Given the description of an element on the screen output the (x, y) to click on. 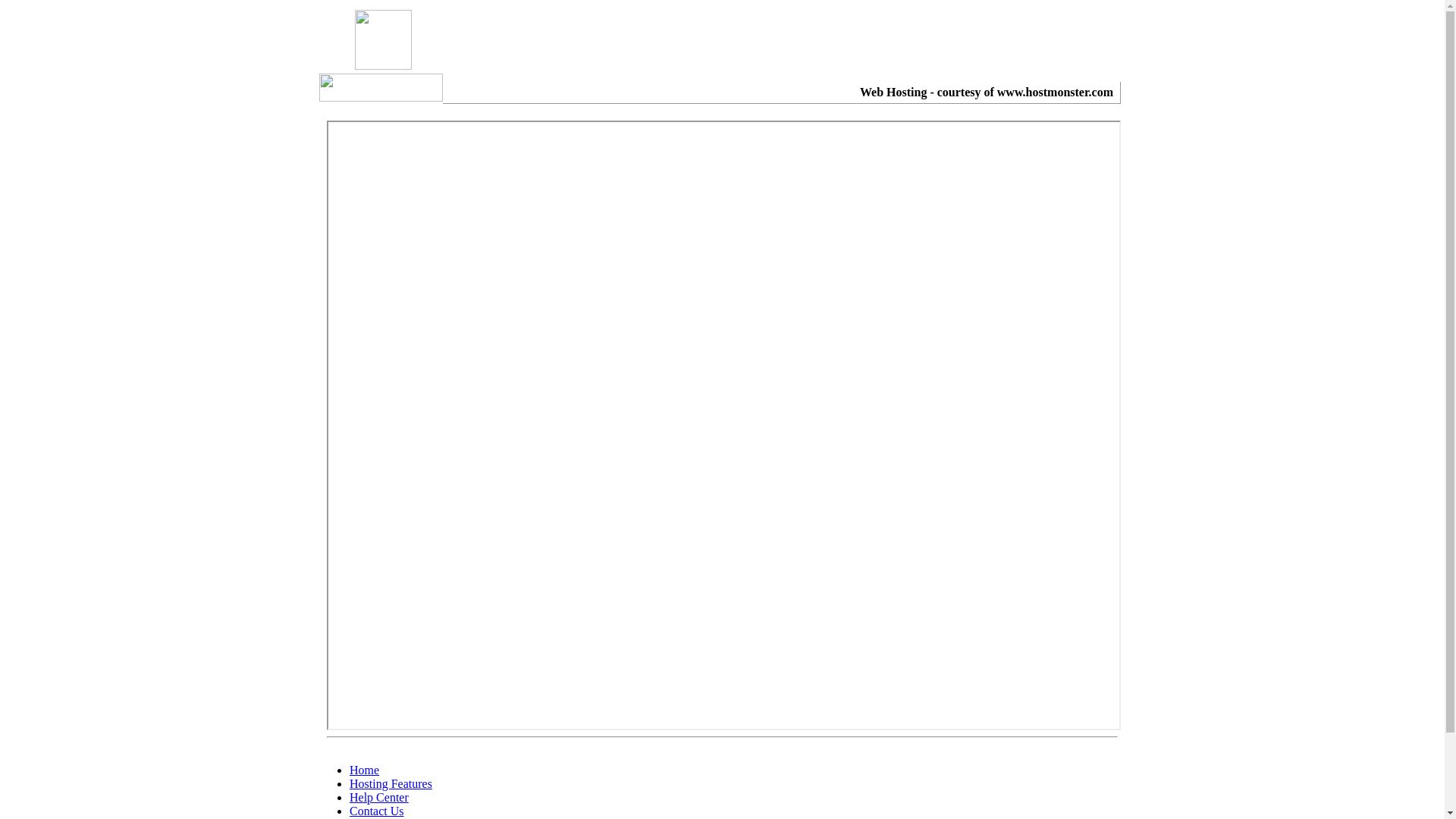
Web Hosting - courtesy of www.hostmonster.com Element type: text (986, 91)
Home Element type: text (364, 769)
Help Center Element type: text (378, 796)
Contact Us Element type: text (376, 810)
Hosting Features Element type: text (390, 783)
